Given the description of an element on the screen output the (x, y) to click on. 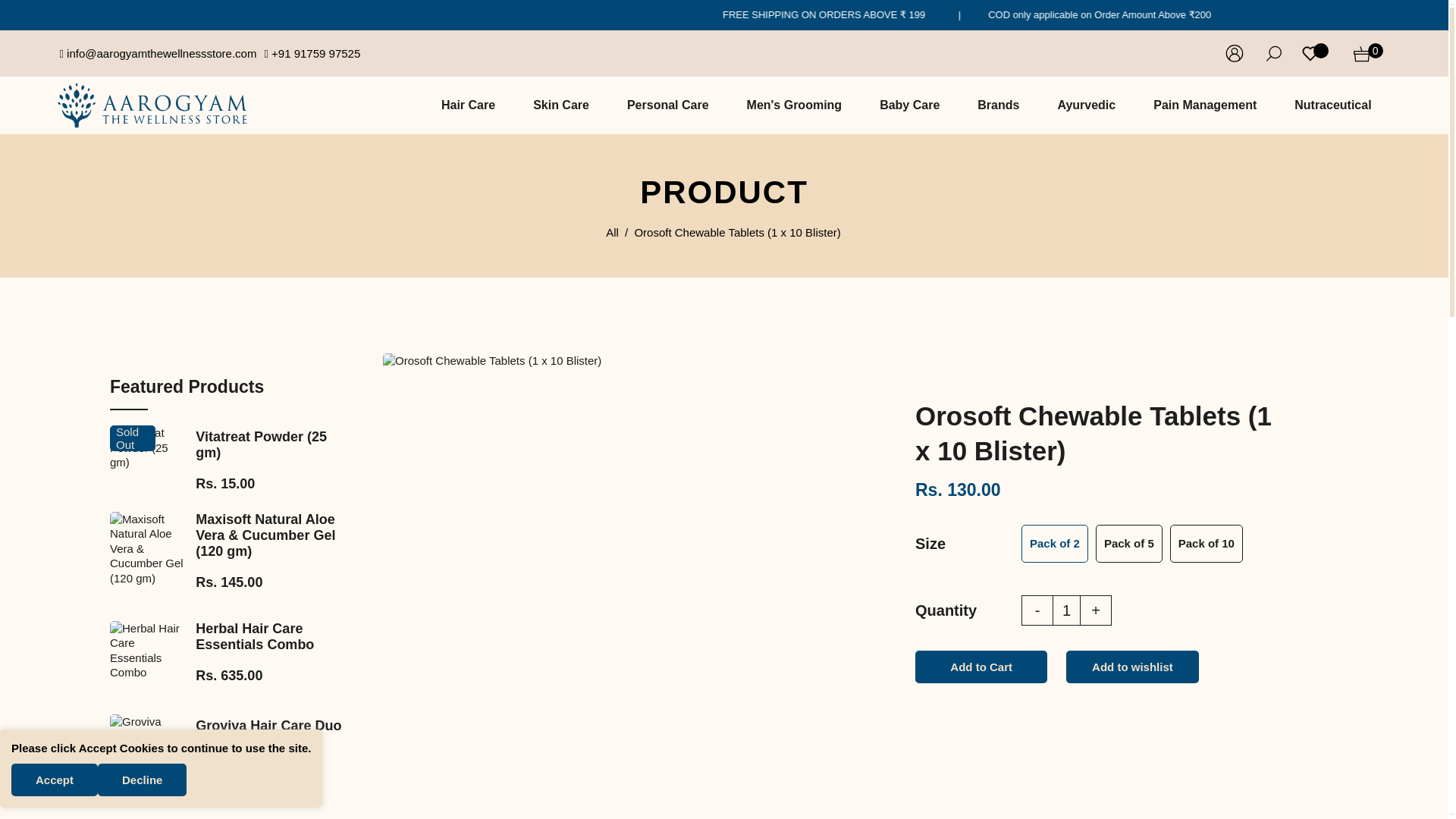
Men's Grooming (794, 104)
Hair Care (467, 104)
Aarogyam - The Wellness Store (152, 103)
Personal Care (668, 104)
0 (1362, 53)
Skin Care (560, 104)
